Given the description of an element on the screen output the (x, y) to click on. 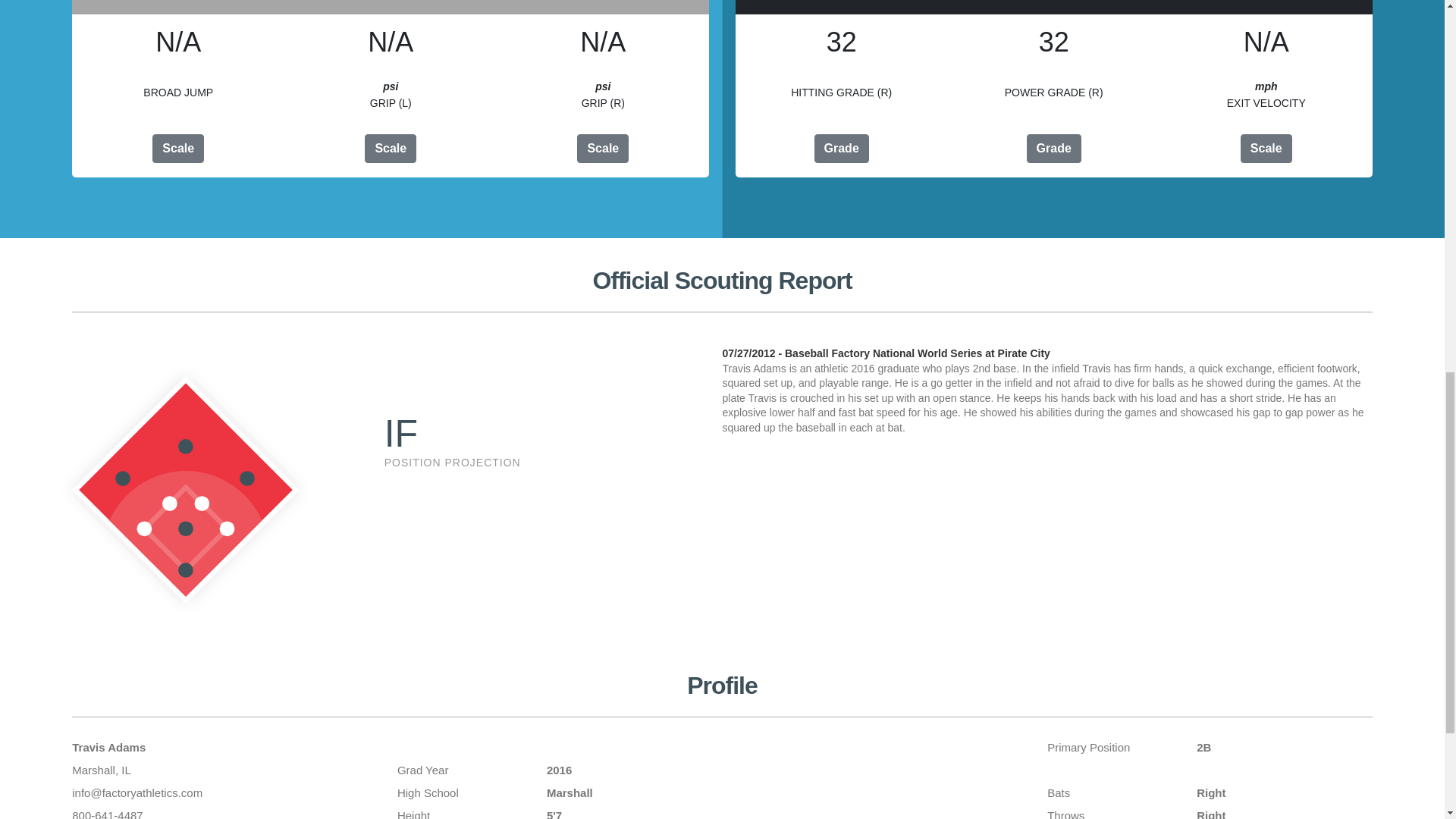
Scale (602, 148)
Grade (1053, 148)
Grade (841, 148)
Scale (177, 148)
Scale (390, 148)
Scale (1266, 148)
